Given the description of an element on the screen output the (x, y) to click on. 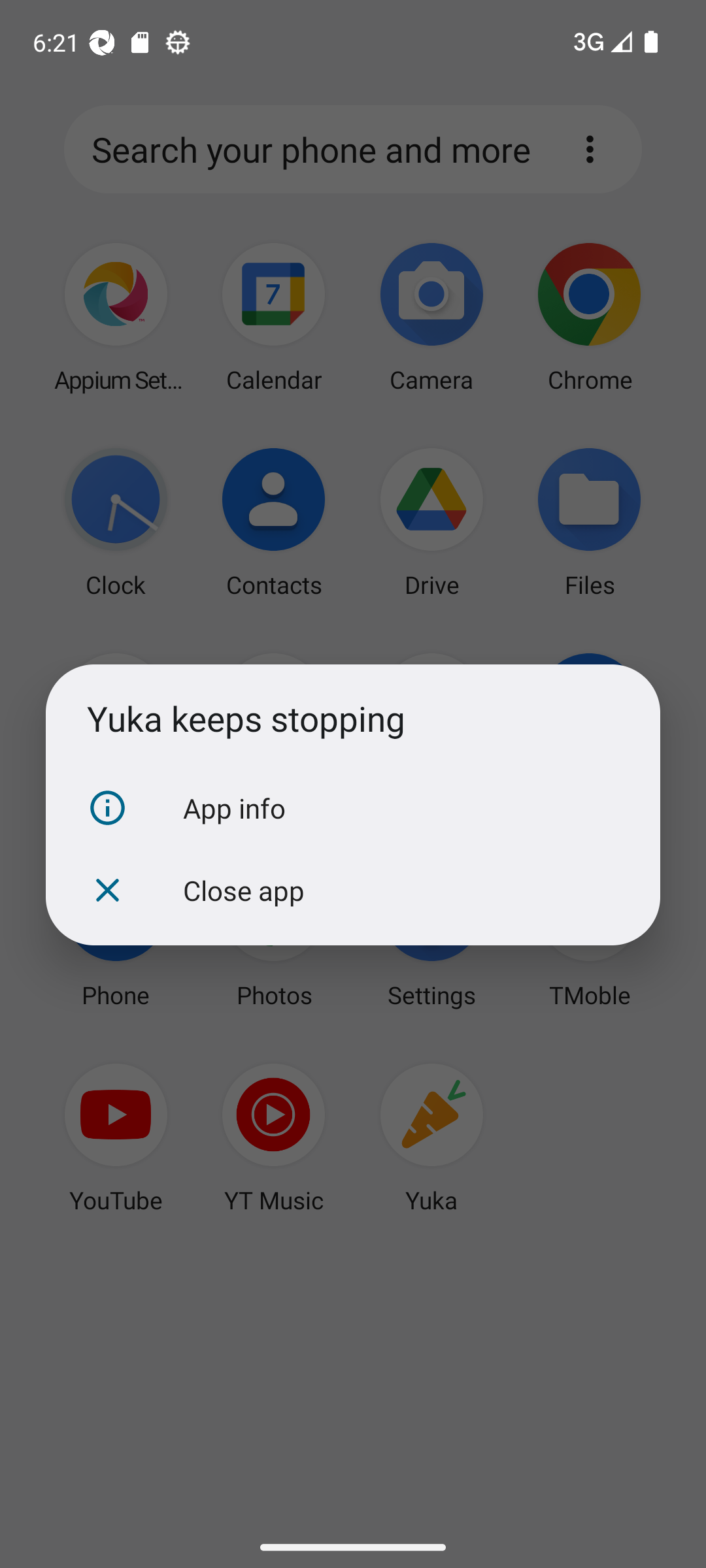
App info (352, 807)
Close app (352, 890)
